Given the description of an element on the screen output the (x, y) to click on. 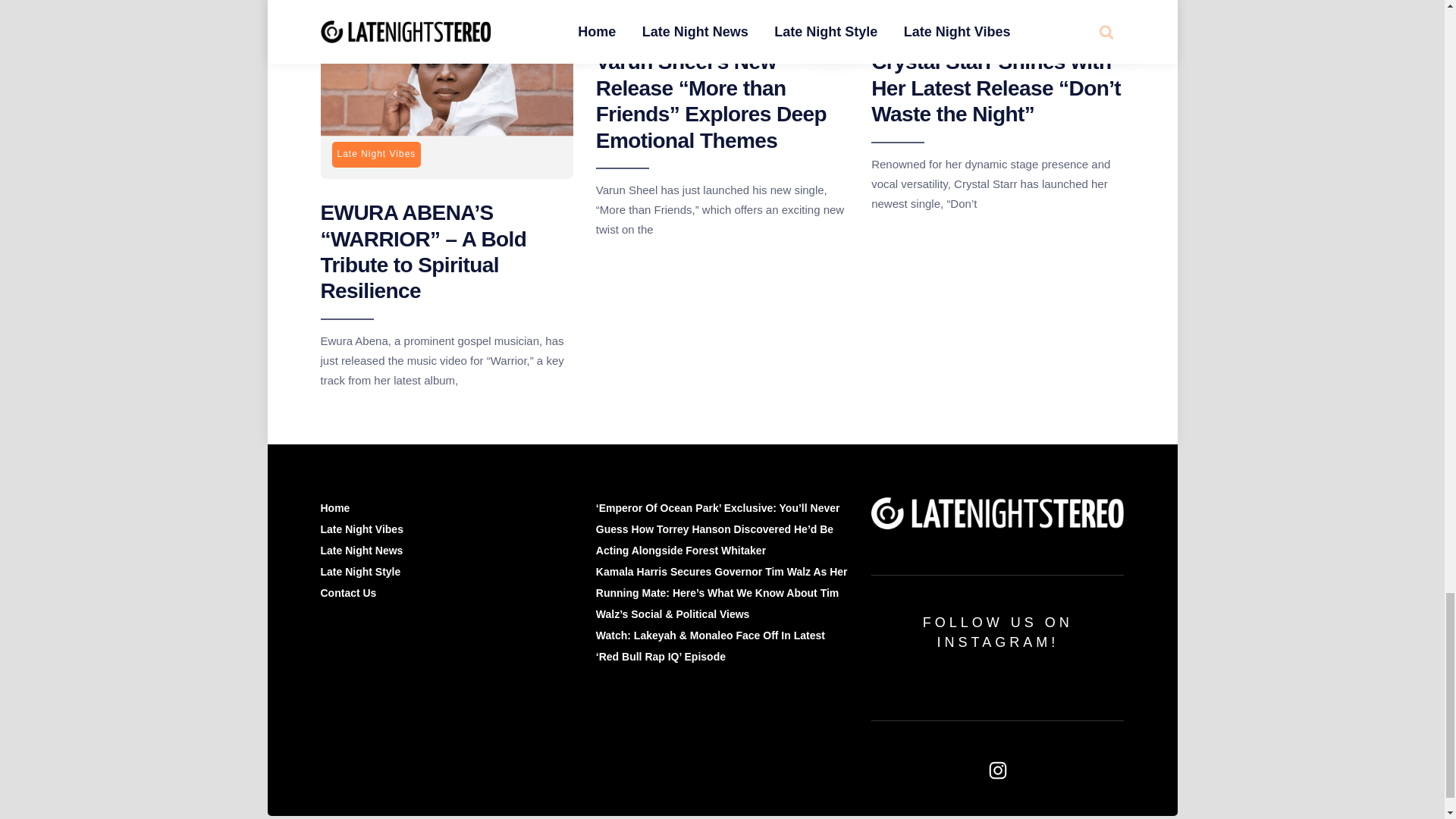
Late Night Vibes (376, 154)
Late Night Vibes (927, 8)
Late Night Vibes (652, 8)
